Given the description of an element on the screen output the (x, y) to click on. 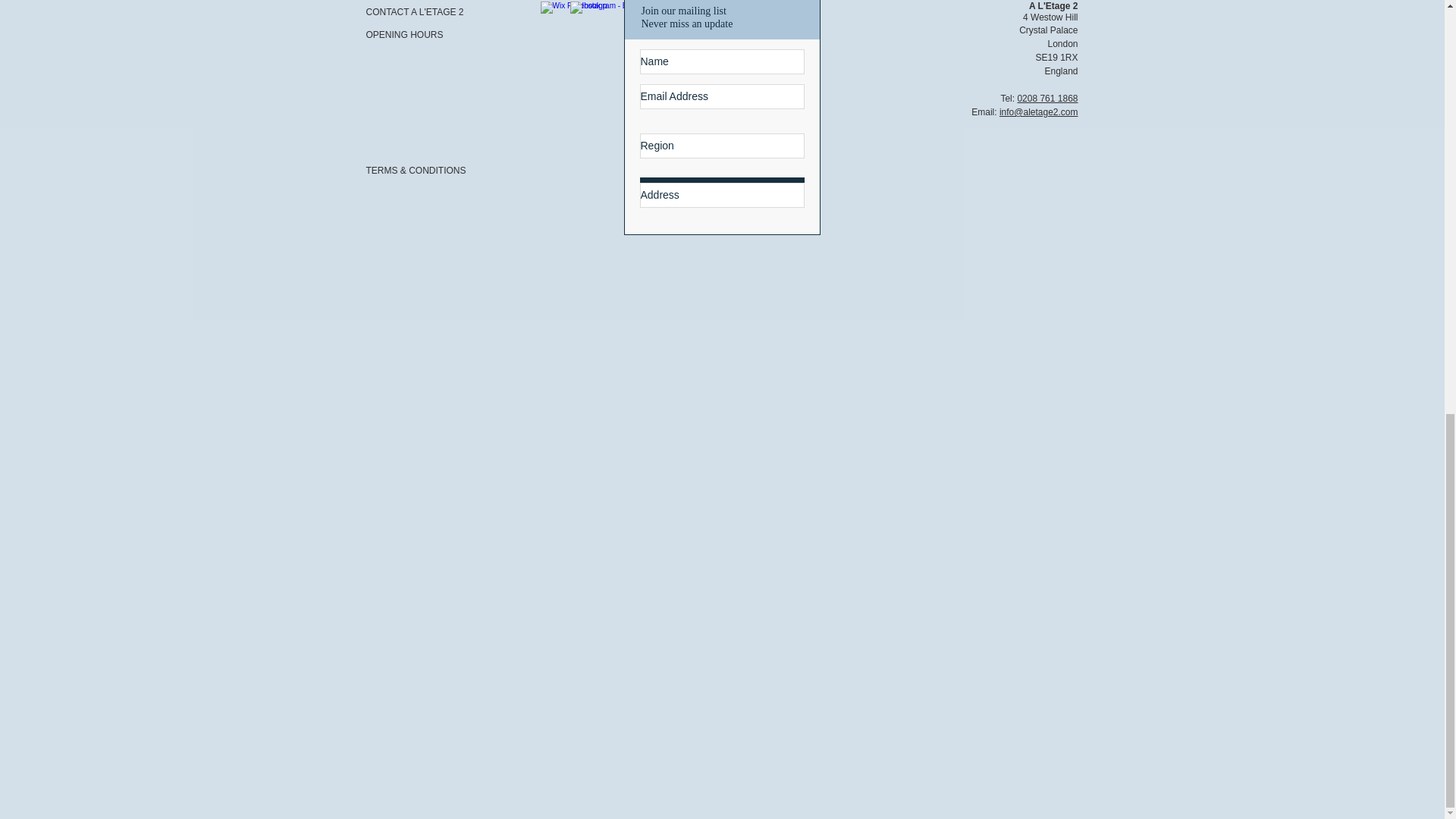
Subscribe Now (722, 192)
0208 761 1868 (1046, 98)
OPENING HOURS (418, 34)
CONTACT A L'ETAGE 2 (418, 11)
